Given the description of an element on the screen output the (x, y) to click on. 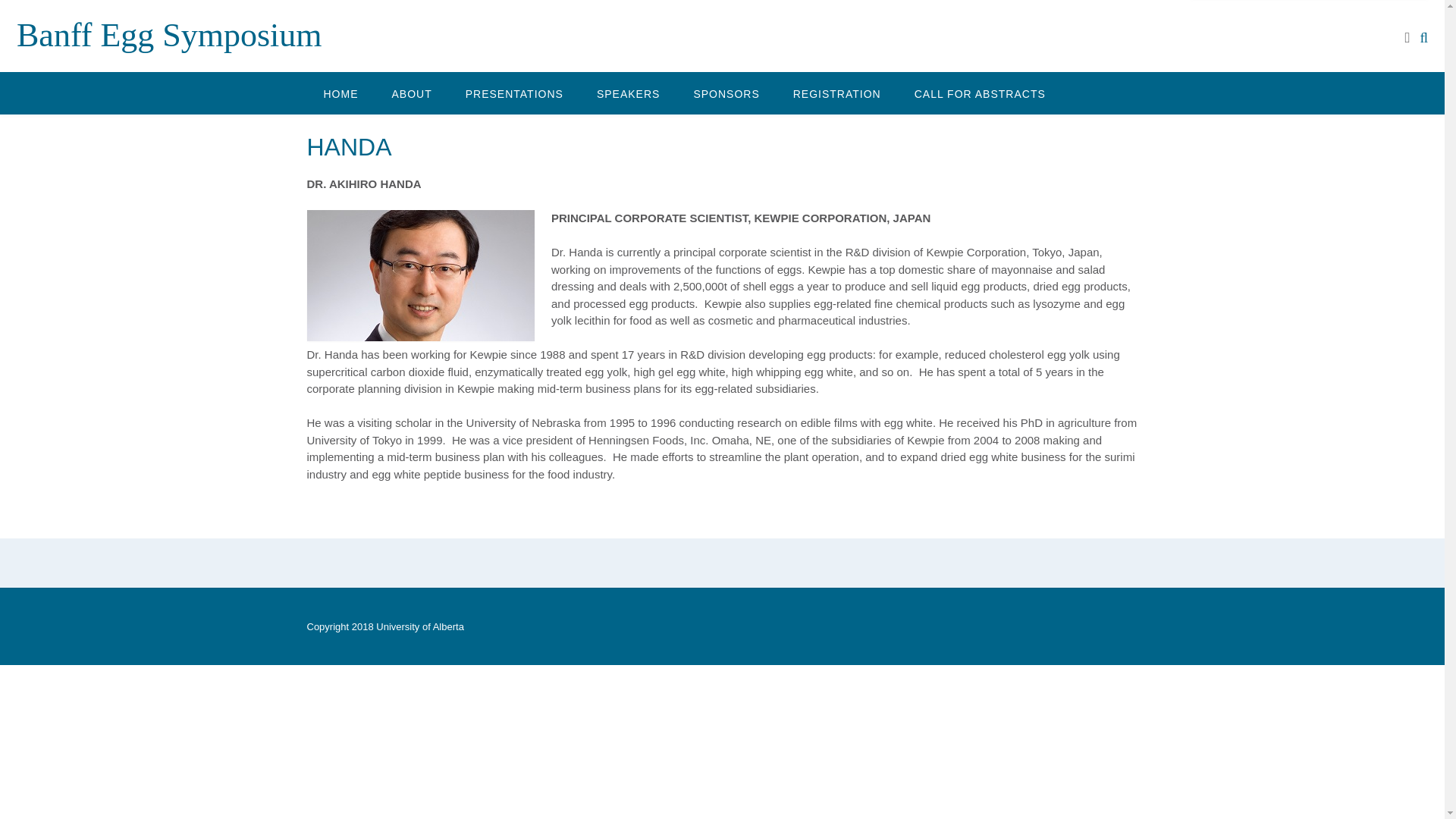
SPEAKERS (628, 92)
SPONSORS (726, 92)
PRESENTATIONS (513, 92)
Banff Egg Symposium (168, 35)
REGISTRATION (837, 92)
Banff Egg Symposium  (168, 35)
ABOUT (411, 92)
HOME (339, 92)
CONTACT (350, 134)
CALL FOR ABSTRACTS (980, 92)
